Given the description of an element on the screen output the (x, y) to click on. 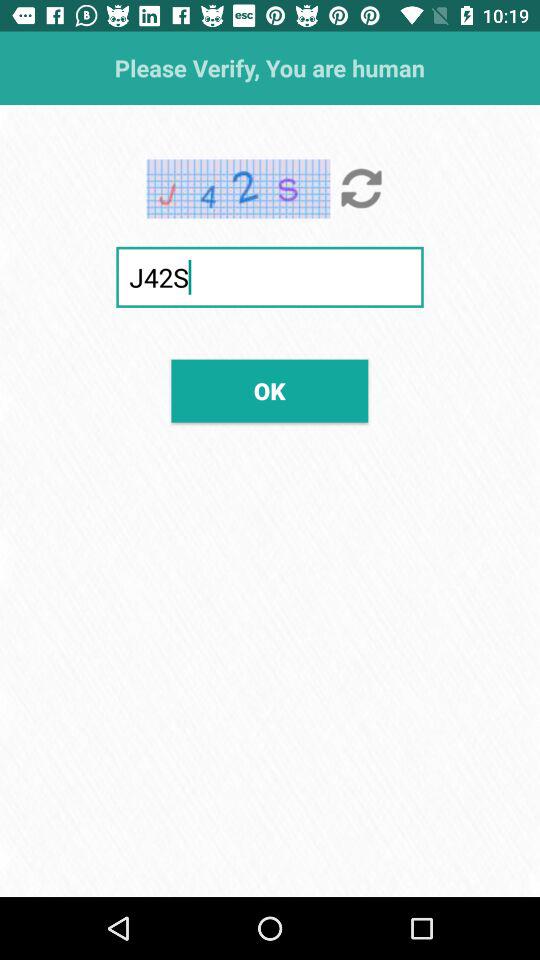
swipe to the j42s (269, 276)
